Given the description of an element on the screen output the (x, y) to click on. 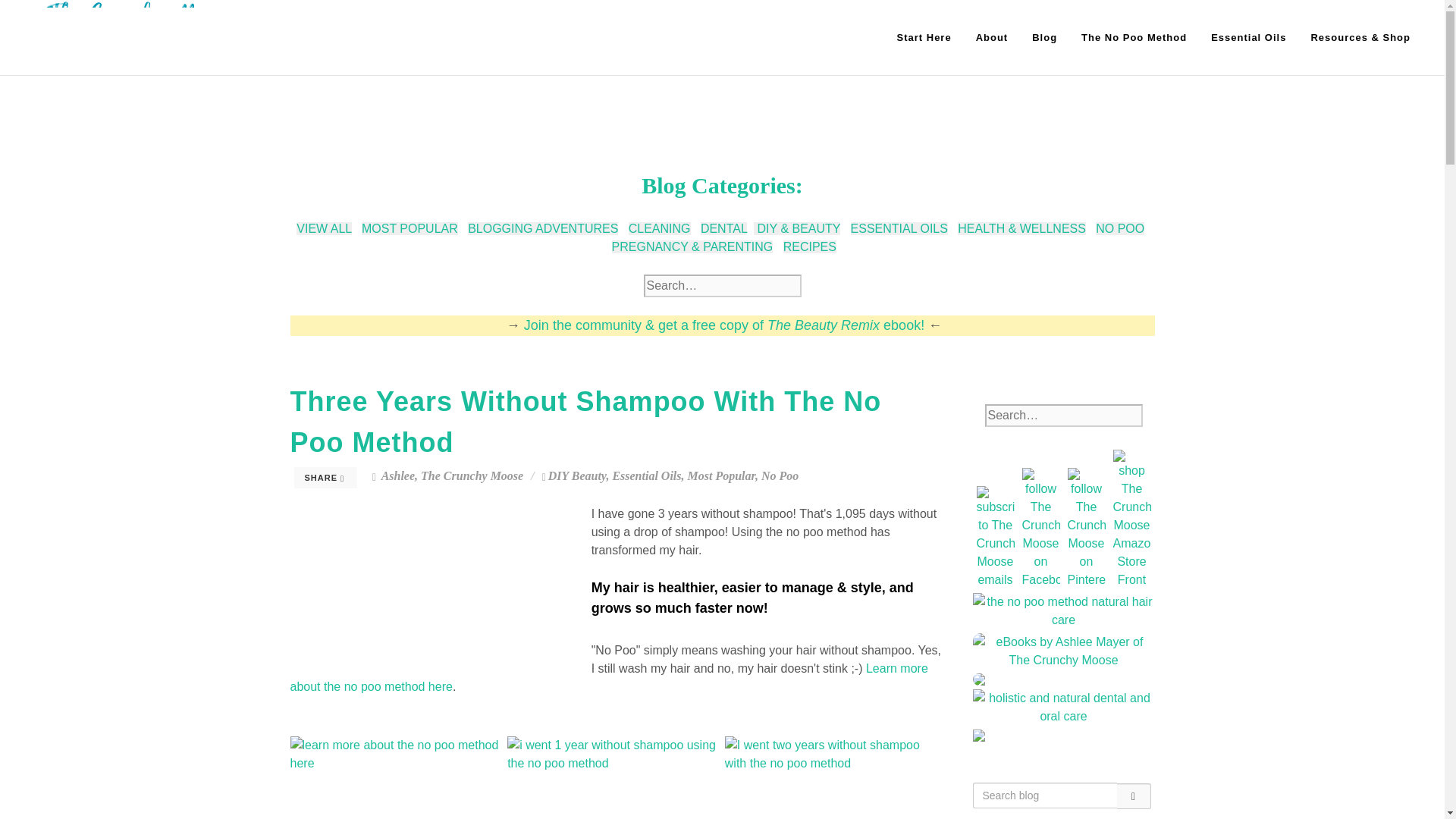
CLEANING (659, 228)
About (991, 38)
BLOGGING ADVENTURES (542, 228)
Blog (1044, 38)
VIEW ALL (323, 228)
MOST POPULAR (409, 228)
Essential Oils (1248, 38)
The No Poo Method (1134, 38)
Start Here (923, 38)
